Given the description of an element on the screen output the (x, y) to click on. 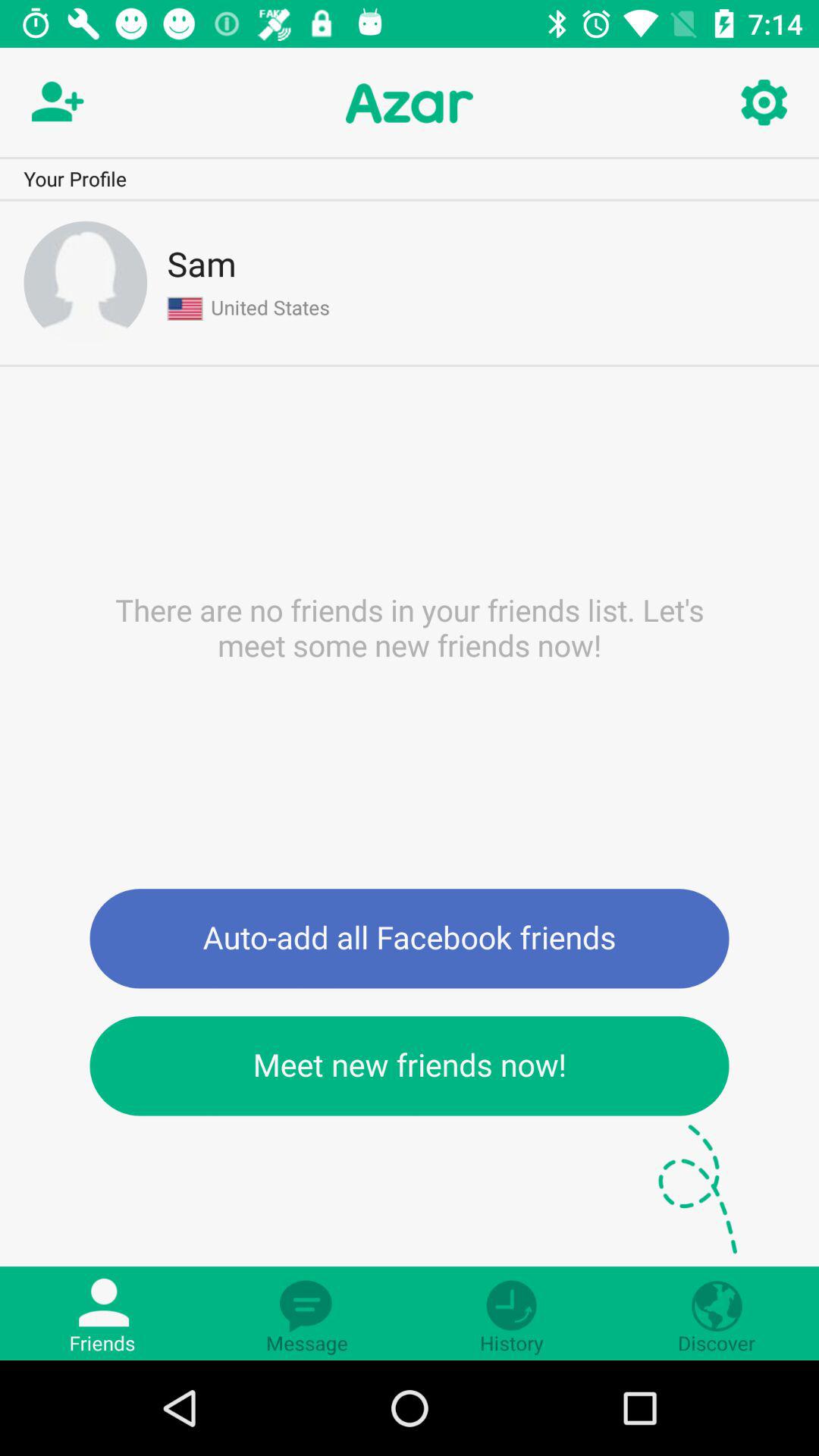
click the auto add all item (409, 938)
